Given the description of an element on the screen output the (x, y) to click on. 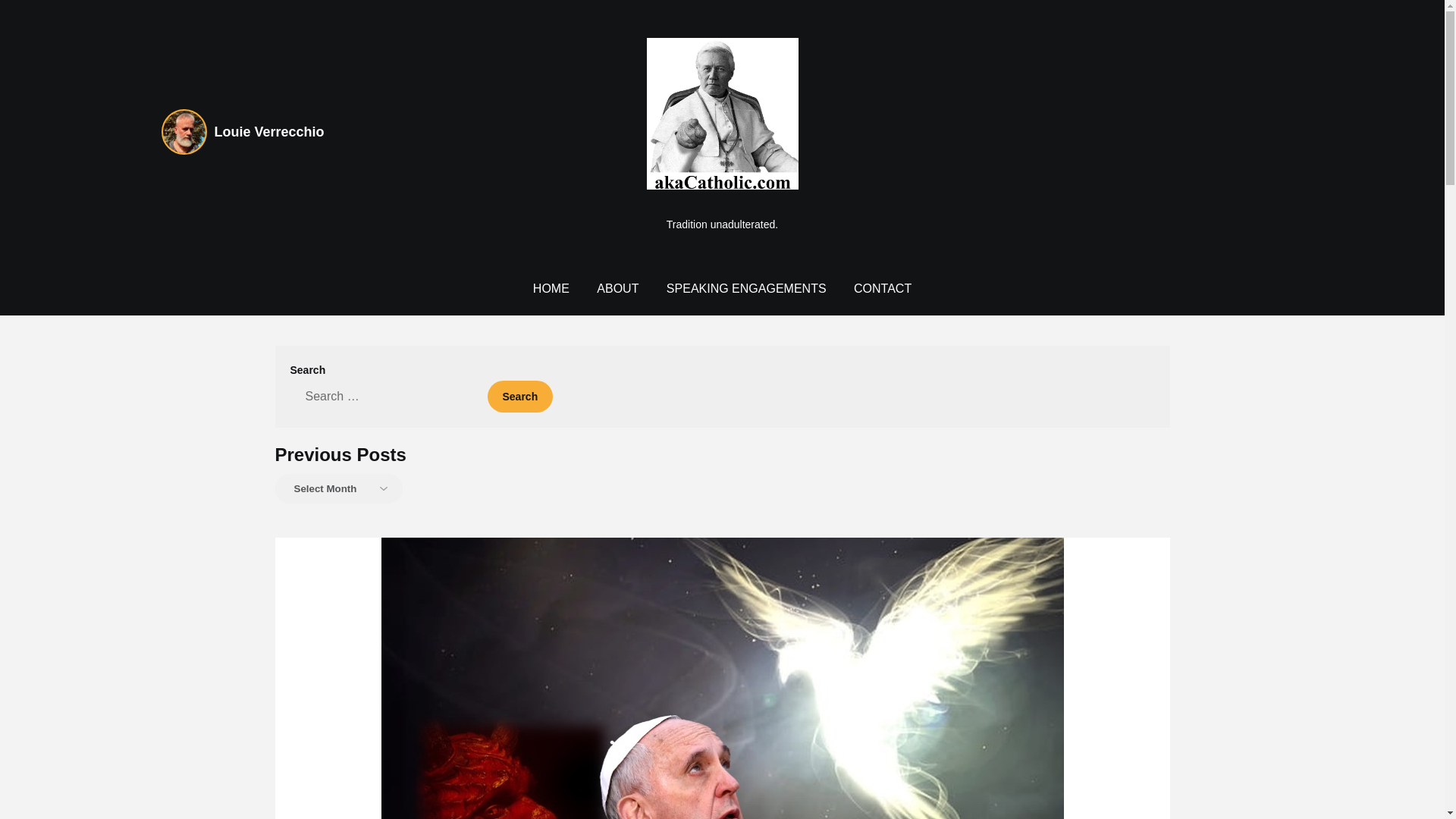
HOME (550, 288)
ABOUT (617, 288)
CONTACT (882, 288)
Search (519, 396)
SPEAKING ENGAGEMENTS (745, 288)
Search (519, 396)
Search (519, 396)
